Given the description of an element on the screen output the (x, y) to click on. 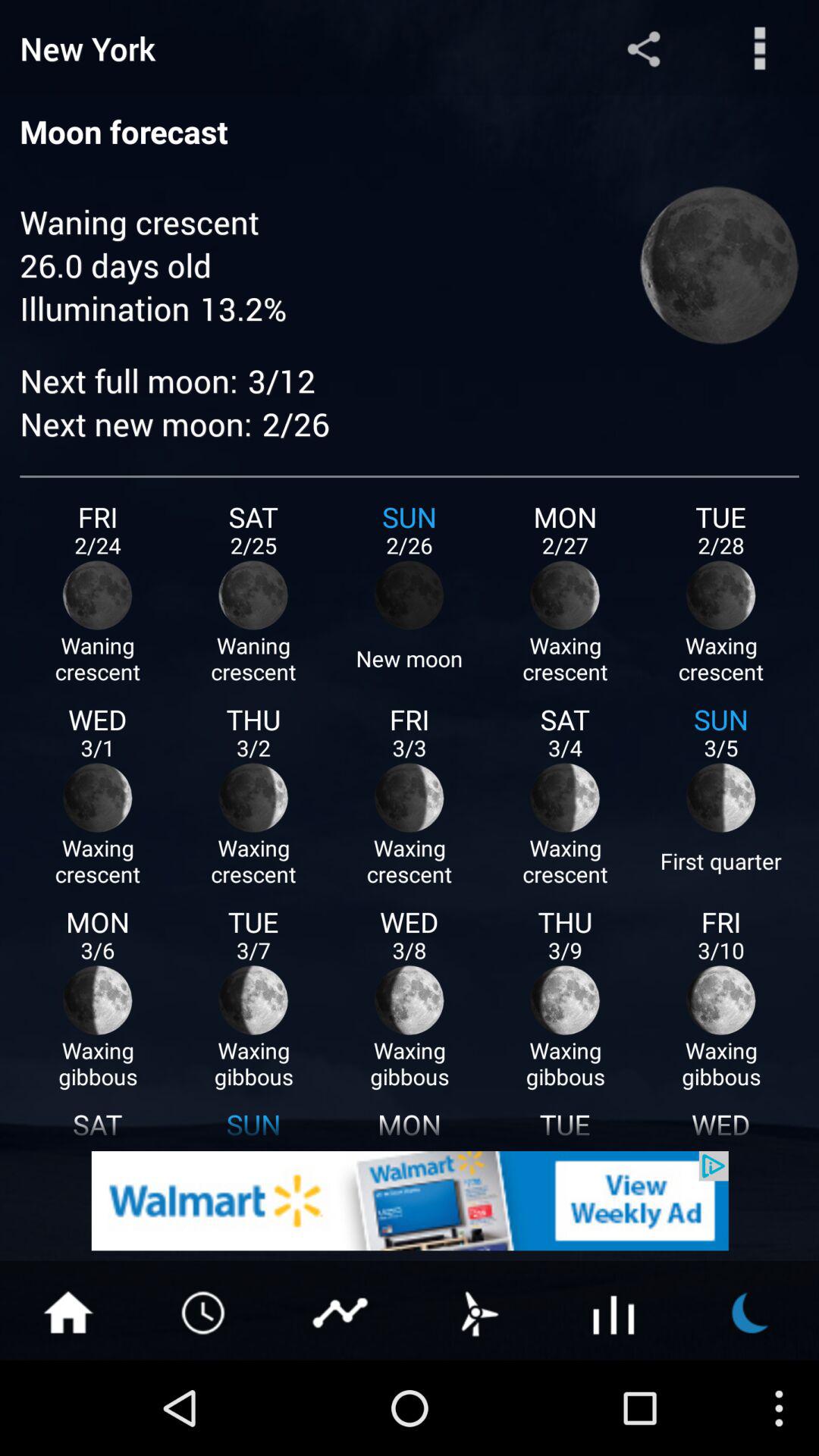
go home (68, 1311)
